Given the description of an element on the screen output the (x, y) to click on. 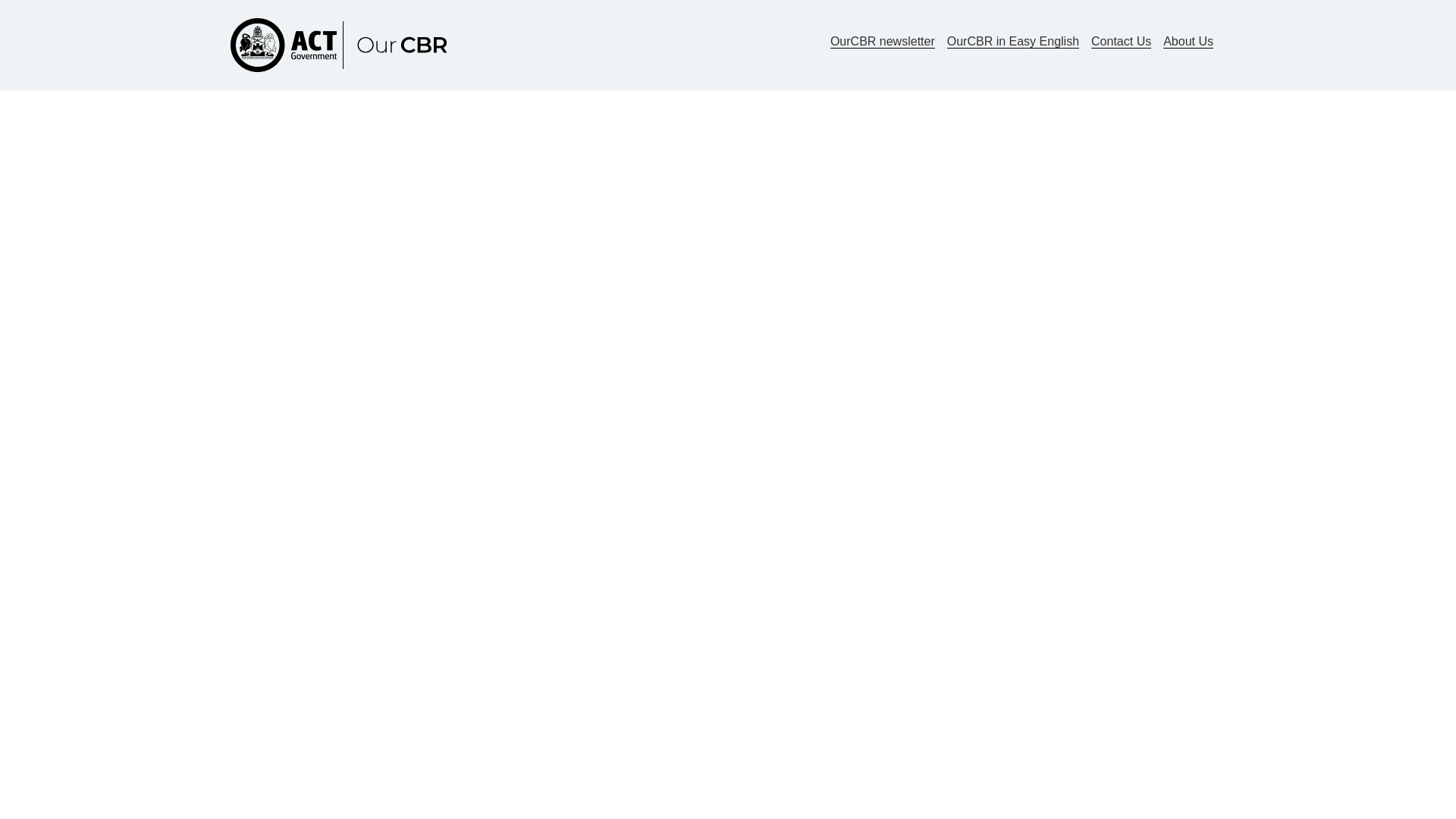
Home (345, 44)
About Us (1187, 41)
About Us (1187, 41)
OurCBR in Easy English (1012, 41)
OurCBR newsletter (881, 41)
OurCBR in Easy English (1012, 41)
Contact Us (1120, 41)
Our Canberra newsletter (881, 41)
Contact Us (1120, 41)
